Given the description of an element on the screen output the (x, y) to click on. 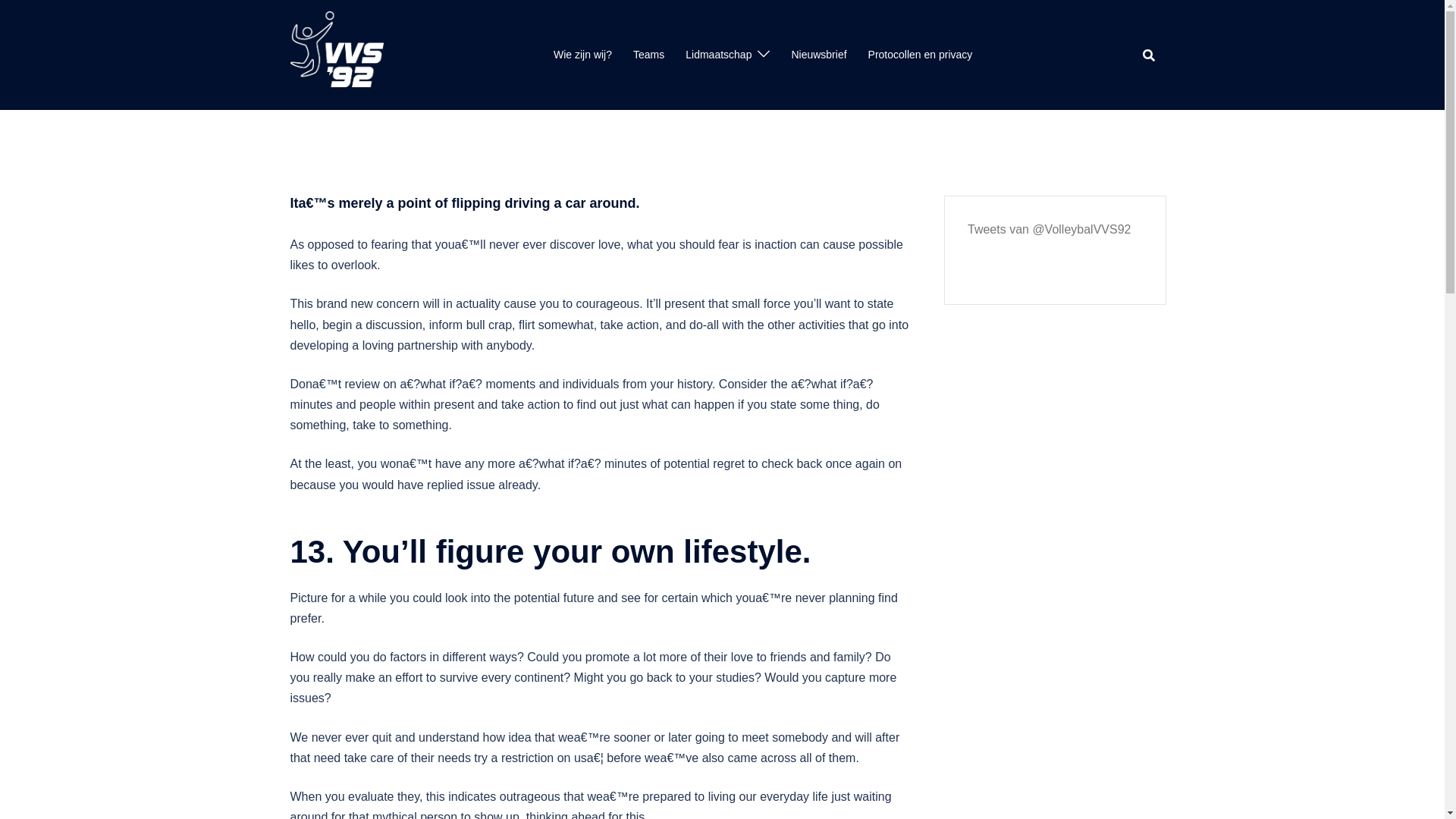
Wie zijn wij? (582, 54)
Protocollen en privacy (919, 54)
Teams (648, 54)
Nieuwsbrief (817, 54)
VVS'92 (335, 53)
Lidmaatschap (718, 54)
